Given the description of an element on the screen output the (x, y) to click on. 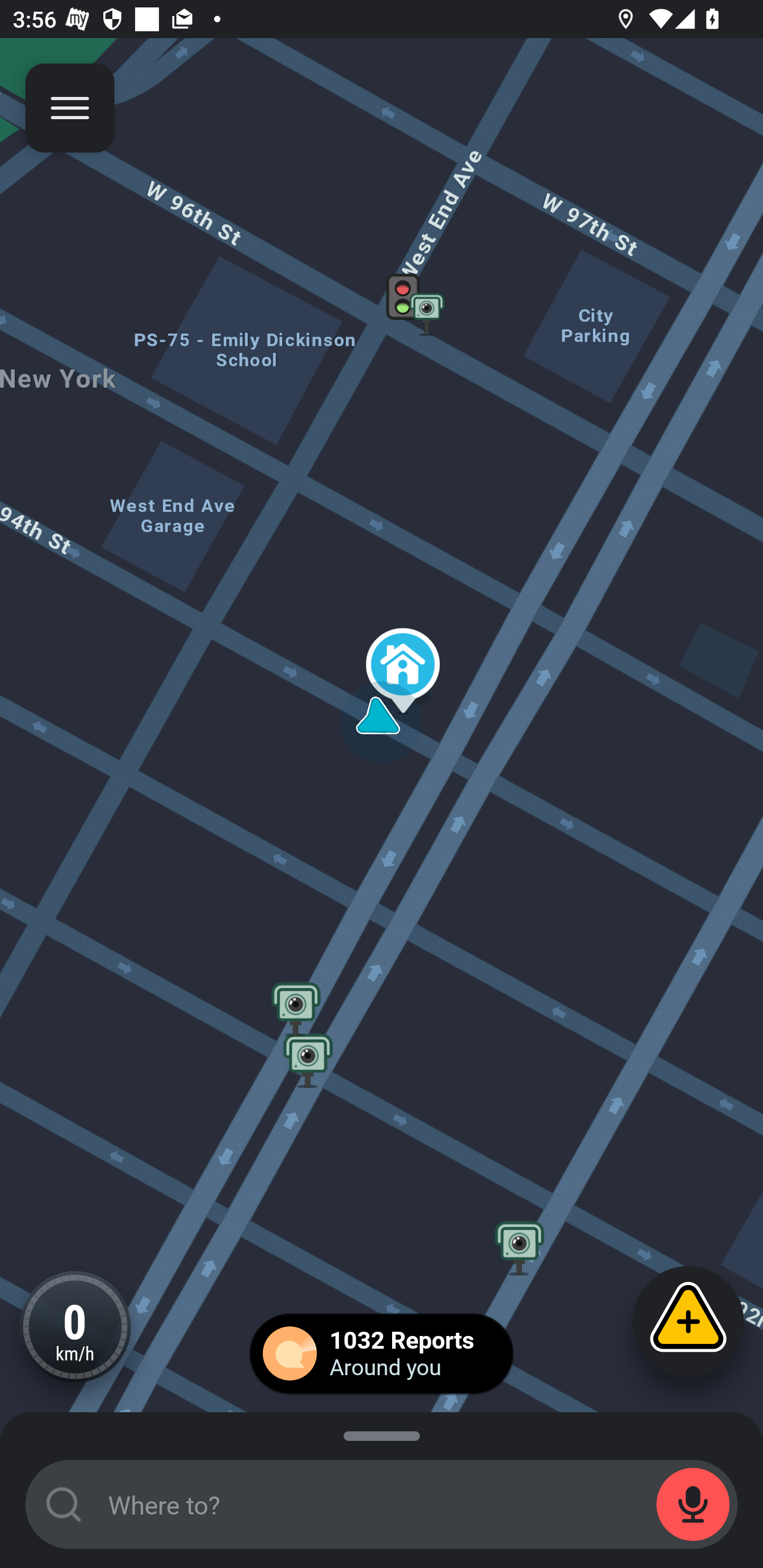
SUGGESTIONS_SHEET_DRAG_HANDLE (381, 1432)
START_STATE_SEARCH_FIELD Where to? (381, 1504)
